Given the description of an element on the screen output the (x, y) to click on. 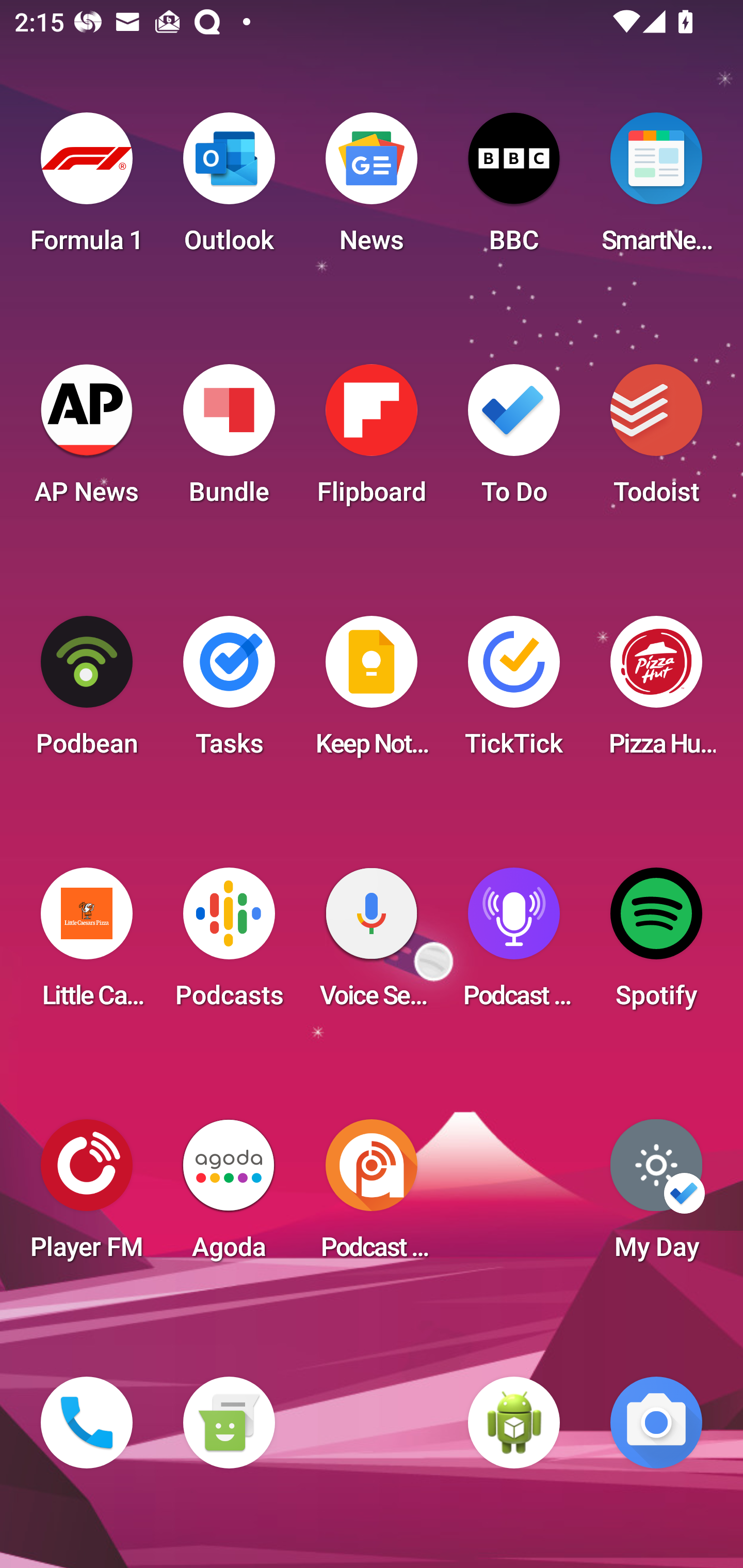
Formula 1 (86, 188)
Outlook (228, 188)
News (371, 188)
BBC (513, 188)
SmartNews (656, 188)
AP News (86, 440)
Bundle (228, 440)
Flipboard (371, 440)
To Do (513, 440)
Todoist (656, 440)
Podbean (86, 692)
Tasks (228, 692)
Keep Notes (371, 692)
TickTick (513, 692)
Pizza Hut HK & Macau (656, 692)
Little Caesars Pizza (86, 943)
Podcasts (228, 943)
Voice Search (371, 943)
Podcast Player (513, 943)
Spotify (656, 943)
Player FM (86, 1195)
Agoda (228, 1195)
Podcast Addict (371, 1195)
My Day (656, 1195)
Phone (86, 1422)
Messaging (228, 1422)
WebView Browser Tester (513, 1422)
Camera (656, 1422)
